Given the description of an element on the screen output the (x, y) to click on. 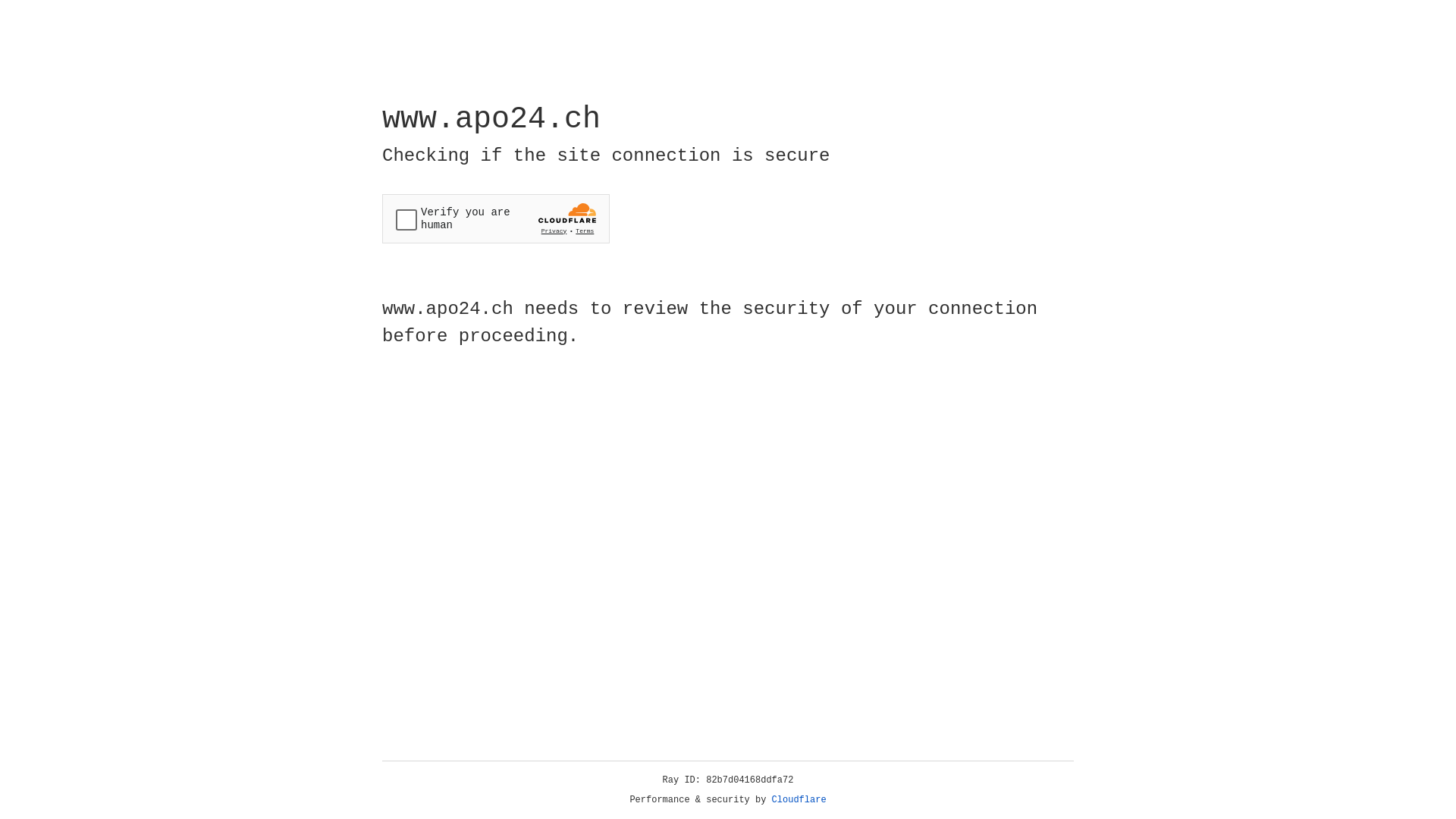
Widget containing a Cloudflare security challenge Element type: hover (495, 218)
Cloudflare Element type: text (798, 799)
